Given the description of an element on the screen output the (x, y) to click on. 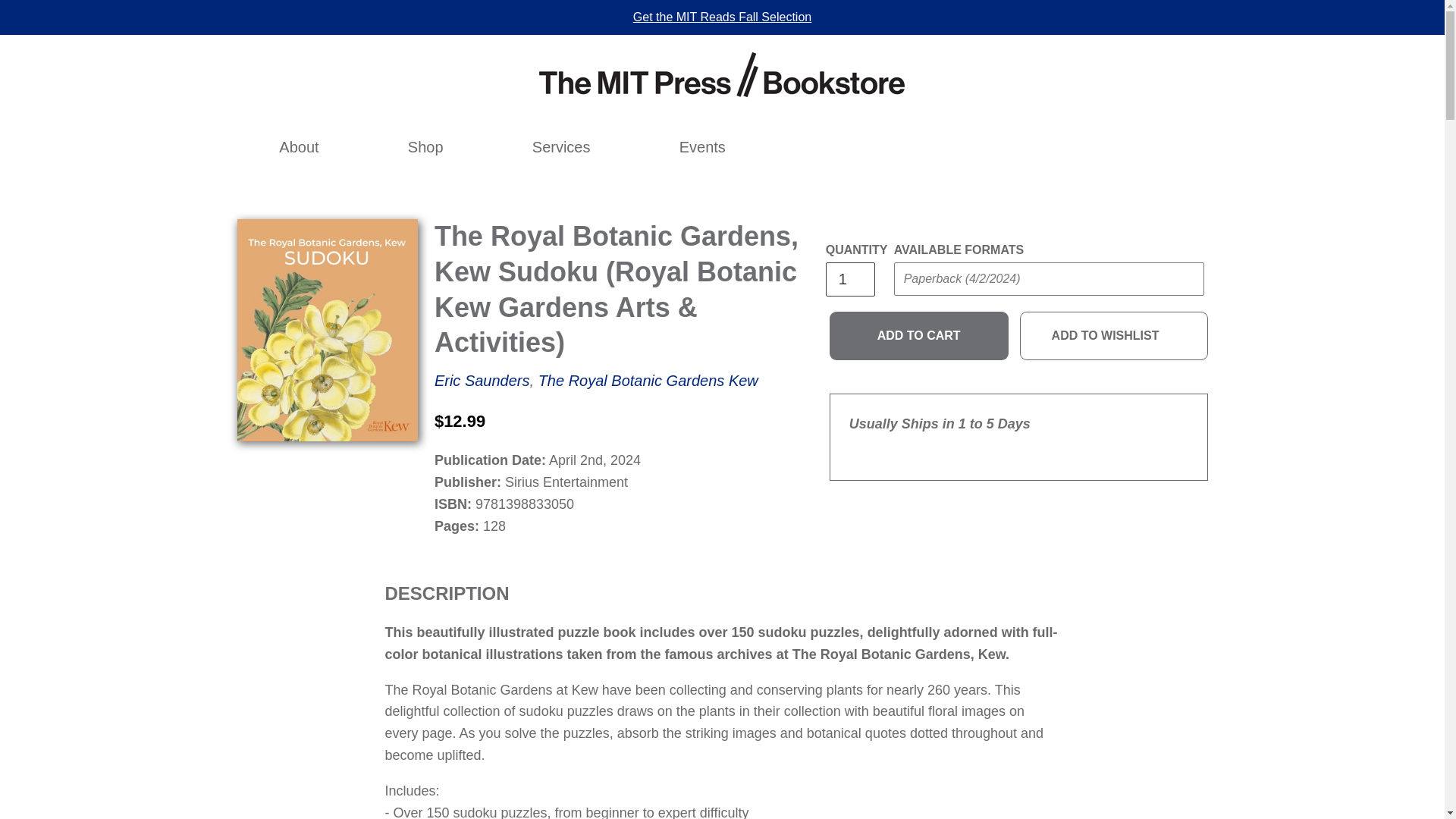
Log in (1022, 146)
1 (850, 279)
Events (702, 146)
Wishlists (1055, 146)
Submit (922, 308)
Link to mit press bookstore events listing (702, 146)
ADD TO WISHLIST (1114, 336)
Add to cart (919, 336)
Services (561, 146)
Log in (1022, 146)
